Given the description of an element on the screen output the (x, y) to click on. 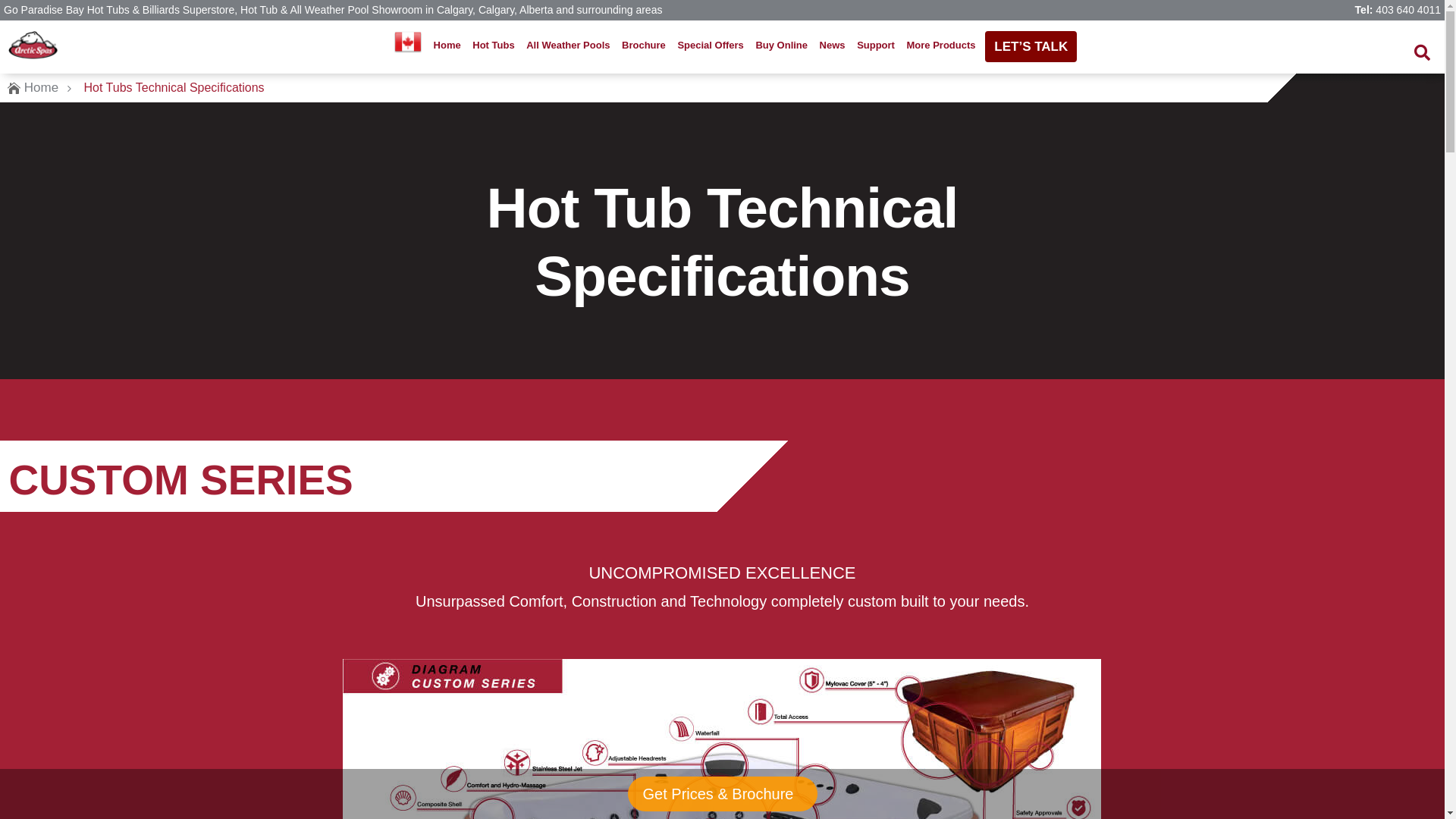
Get Prices & Brochure Element type: text (721, 793)
Choose Your Location Element type: hover (407, 45)
Home Element type: text (41, 87)
Hot Tubs Element type: text (493, 45)
Support Element type: text (875, 45)
403 640 4011 Element type: text (1407, 9)
Special Offers Element type: text (710, 45)
Home Element type: text (446, 45)
Choose Your Location Element type: hover (407, 41)
More Products Element type: text (940, 45)
News Element type: text (831, 45)
All Weather Pools Element type: text (568, 45)
Buy Online Element type: text (781, 45)
Brochure Element type: text (643, 45)
